Given the description of an element on the screen output the (x, y) to click on. 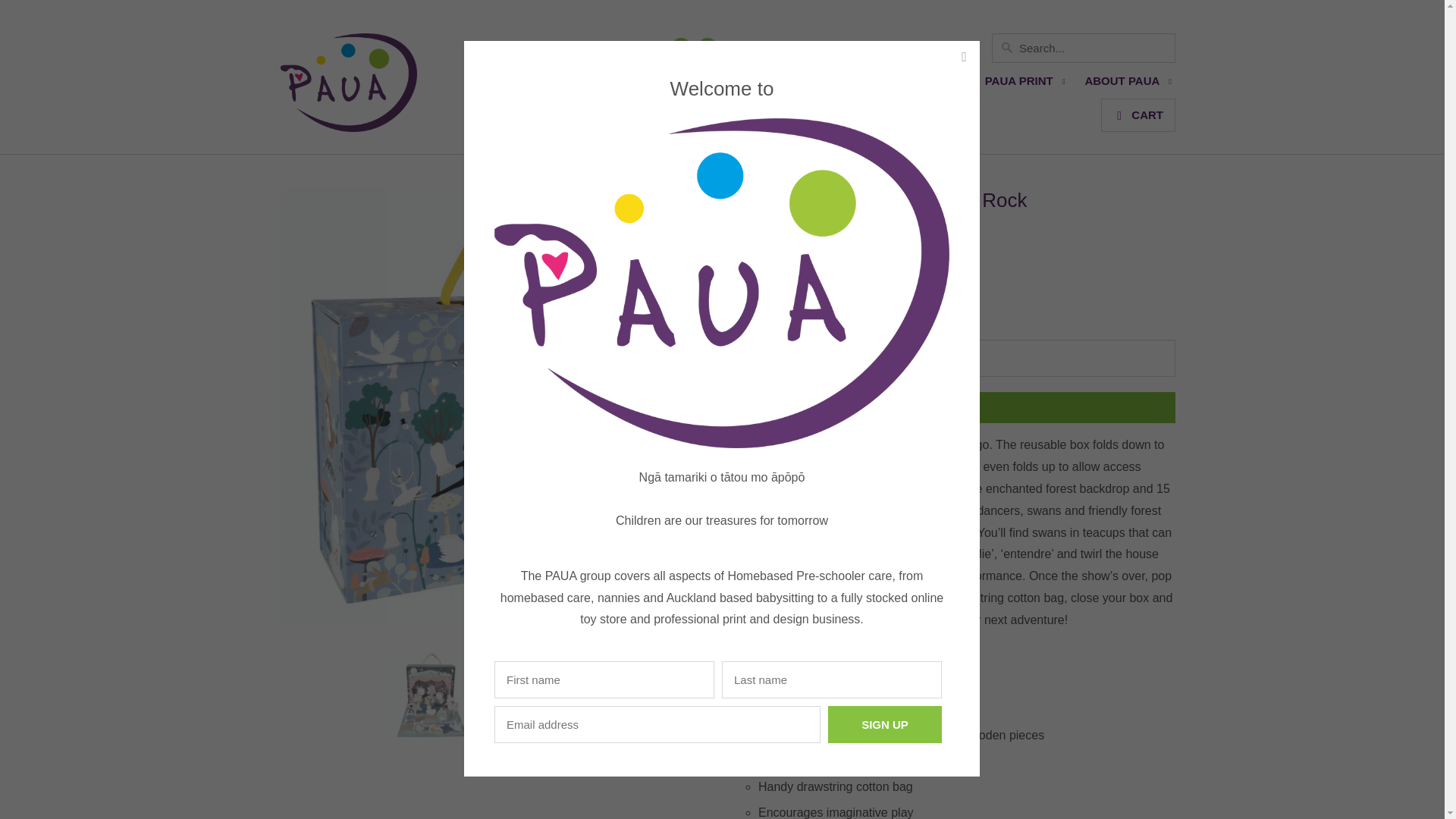
CONTACT US (761, 47)
Close (963, 56)
SIGN IN (961, 47)
Send (954, 407)
PAUA POPPETTS (784, 85)
PAUA HOMEBASED CHILDCARE (615, 85)
PAUAEarlyChildhood on Facebook (707, 47)
SHOP NOW (903, 47)
Cart (1137, 114)
APPLY NOW (834, 47)
0800-728277 (625, 47)
PAUA (348, 88)
PAUA on Facebook (680, 47)
Sign Up (885, 723)
